Given the description of an element on the screen output the (x, y) to click on. 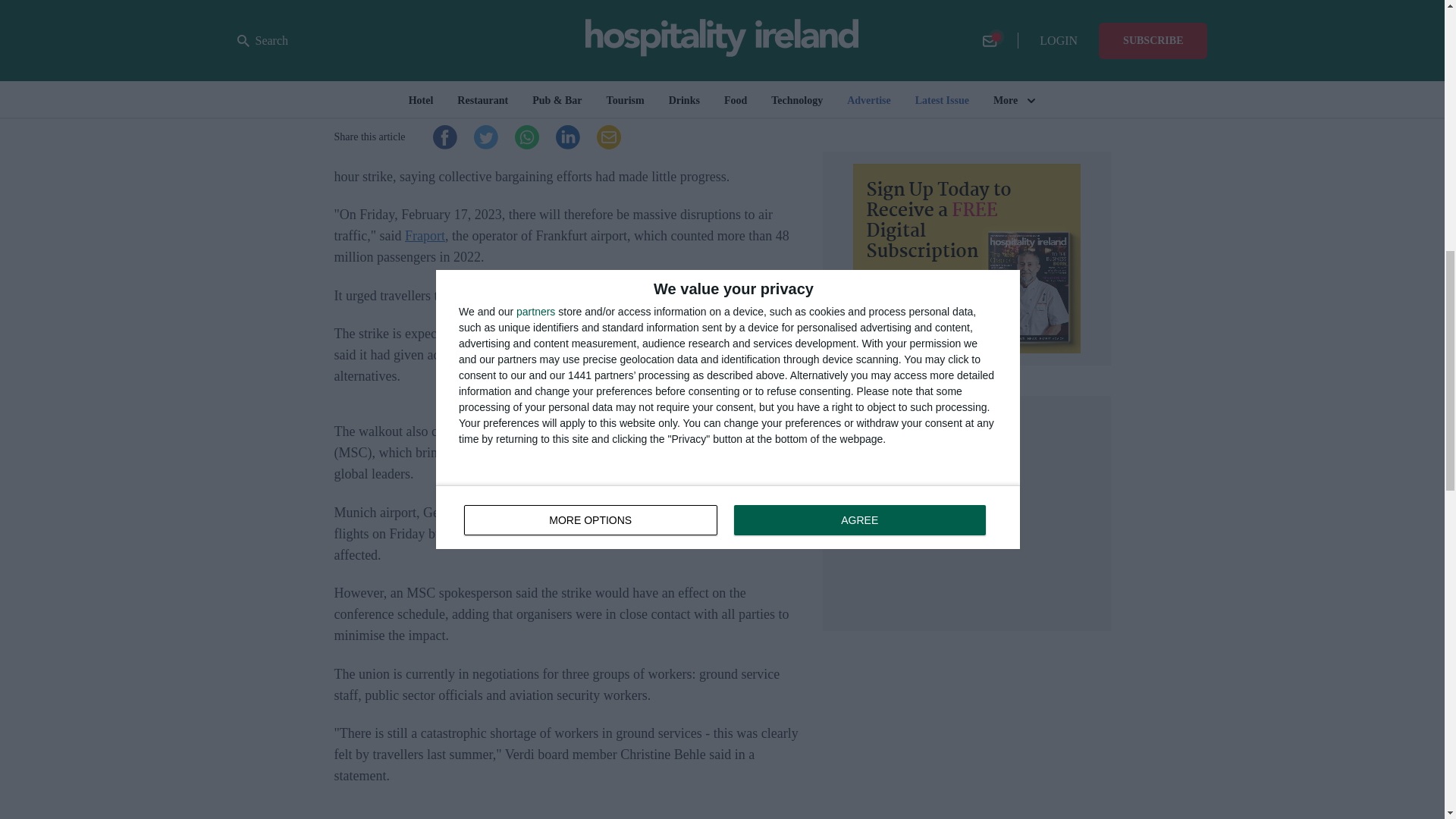
Pernod Ricard Offloads Bulk Of Wine Unit To Focus On Spirits (917, 5)
